Given the description of an element on the screen output the (x, y) to click on. 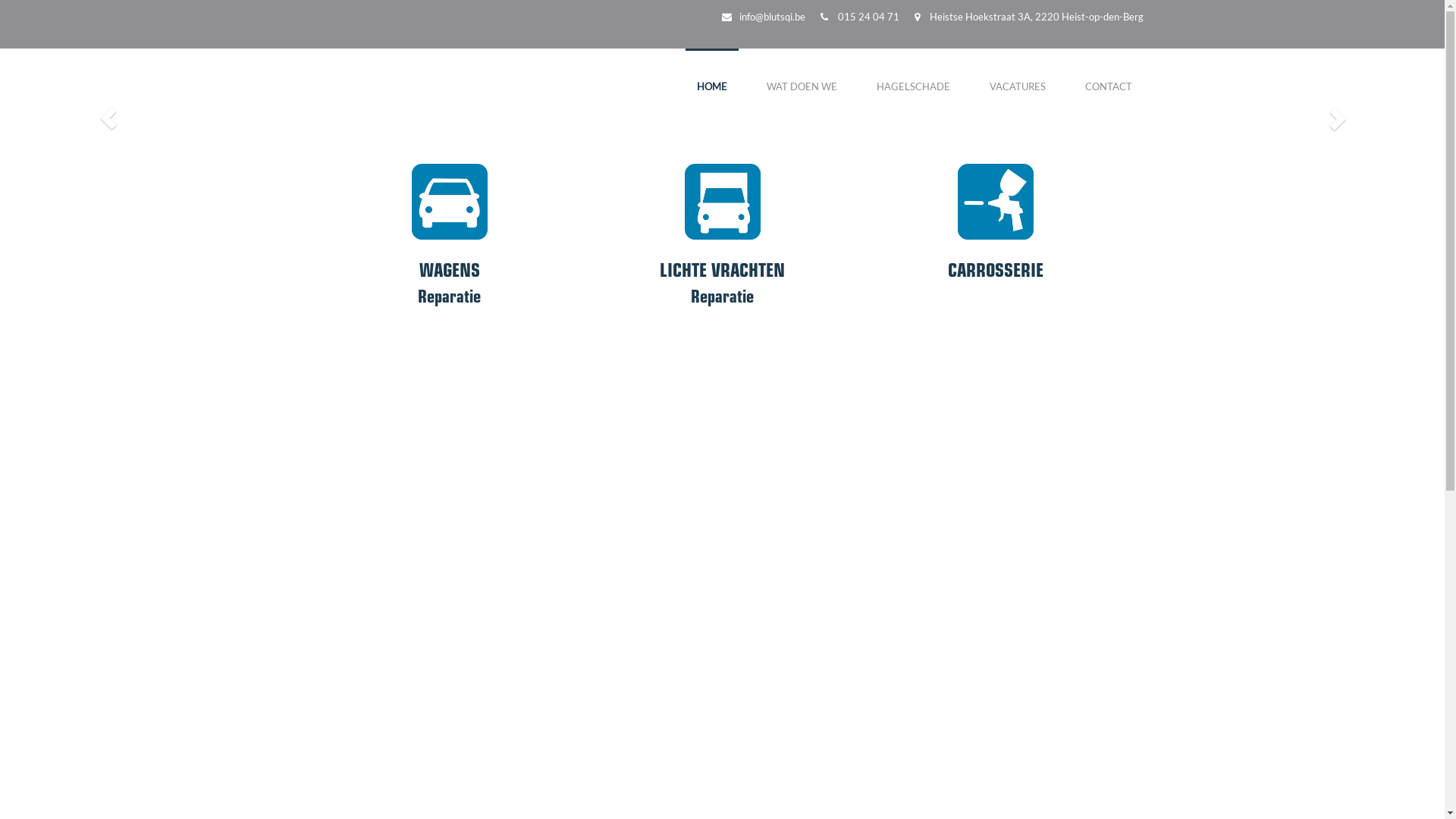
WAT DOEN WE Element type: text (801, 75)
HOME Element type: text (711, 75)
CARROSSERIE Element type: text (995, 228)
WAGENS
Reparatie Element type: text (449, 228)
info@blutsqi.be Element type: text (771, 16)
LICHTE VRACHTEN
Reparatie Element type: text (722, 228)
HAGELSCHADE Element type: text (912, 75)
CONTACT Element type: text (1108, 75)
VACATURES Element type: text (1017, 75)
